Given the description of an element on the screen output the (x, y) to click on. 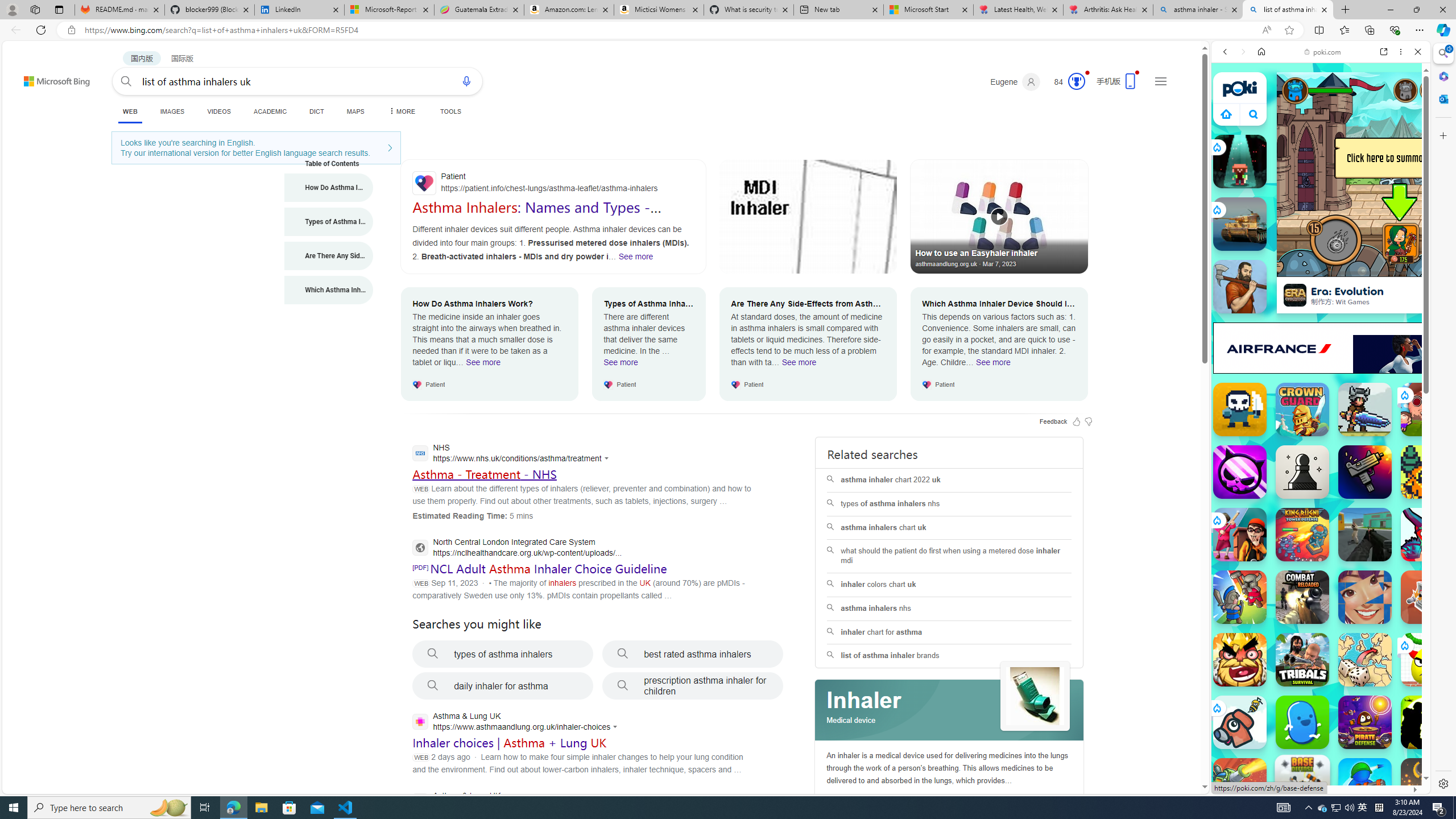
asthma inhalers nhs (949, 608)
Arthritis: Ask Health Professionals (1107, 9)
Show More Two Player Games (1390, 323)
MAPS (355, 111)
MORE (400, 111)
Two Player Games (1320, 323)
best rated asthma inhalers (692, 653)
